Given the description of an element on the screen output the (x, y) to click on. 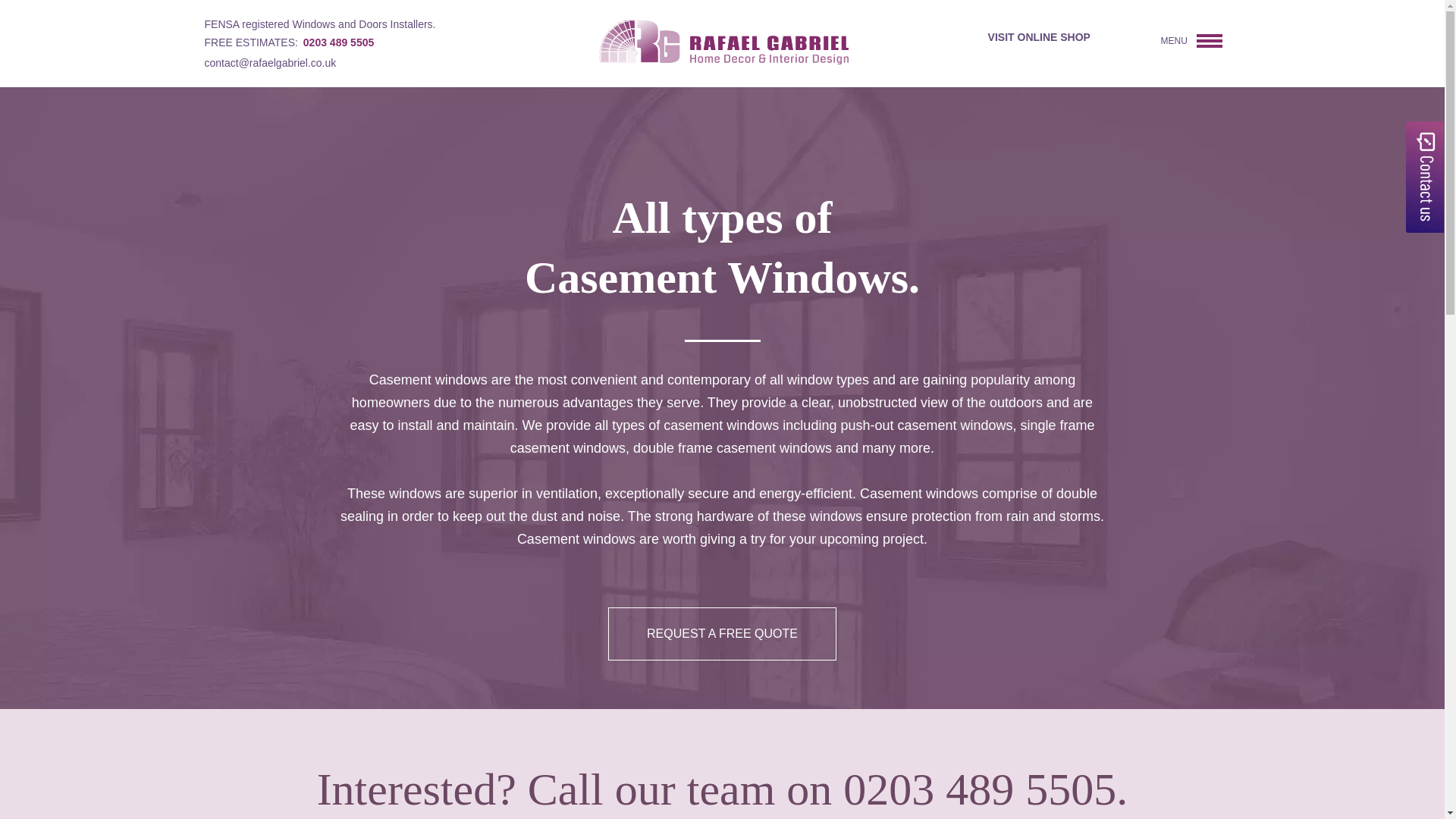
REQUEST A FREE QUOTE (721, 633)
VISIT ONLINE SHOP   (1042, 37)
